Given the description of an element on the screen output the (x, y) to click on. 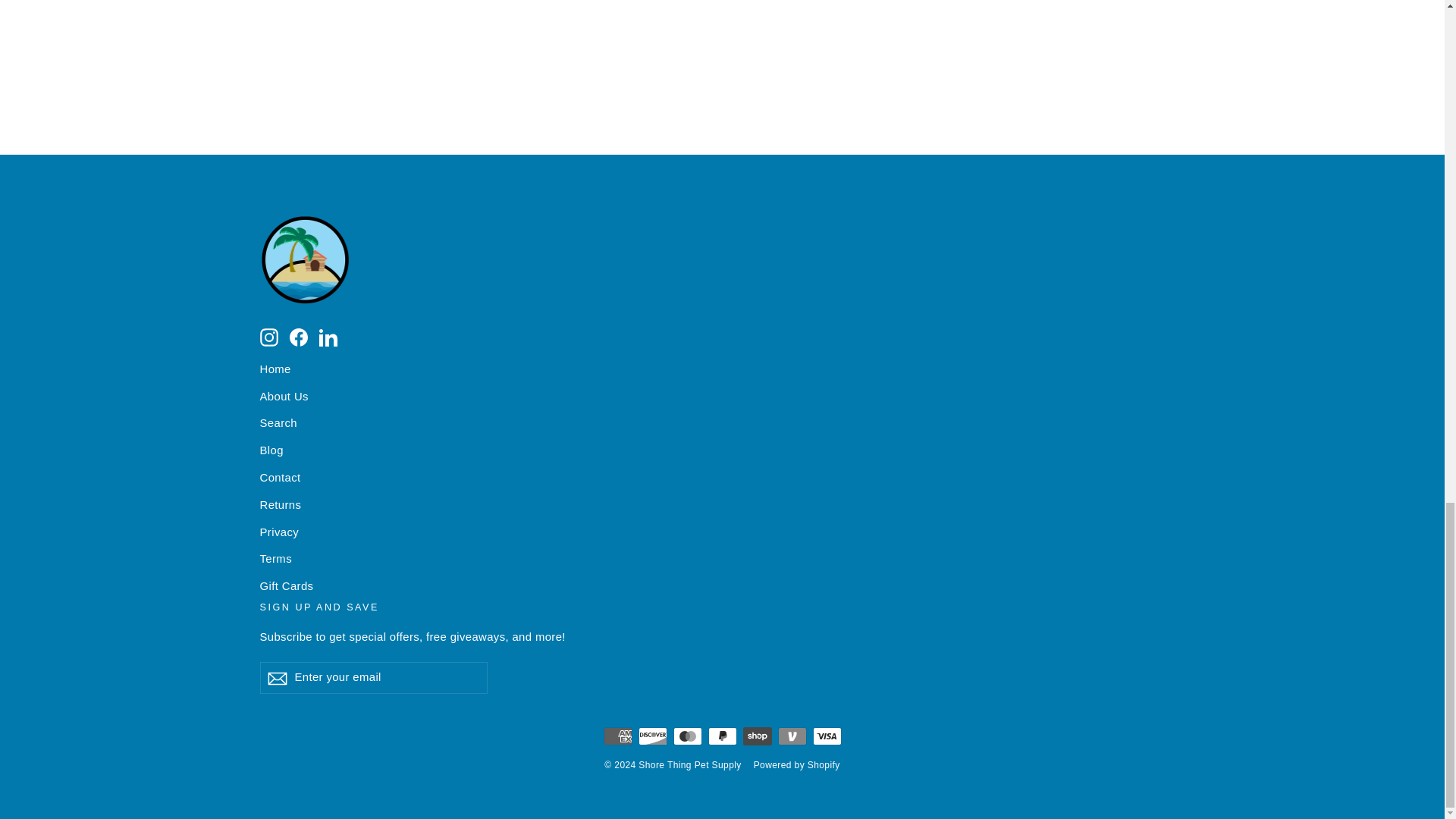
American Express (617, 736)
Shore Thing Pet Supply on Facebook (298, 336)
Shop Pay (756, 736)
Shore Thing Pet Supply on Instagram (268, 336)
Shore Thing Pet Supply on LinkedIn (327, 336)
Discover (652, 736)
PayPal (721, 736)
Mastercard (686, 736)
